Given the description of an element on the screen output the (x, y) to click on. 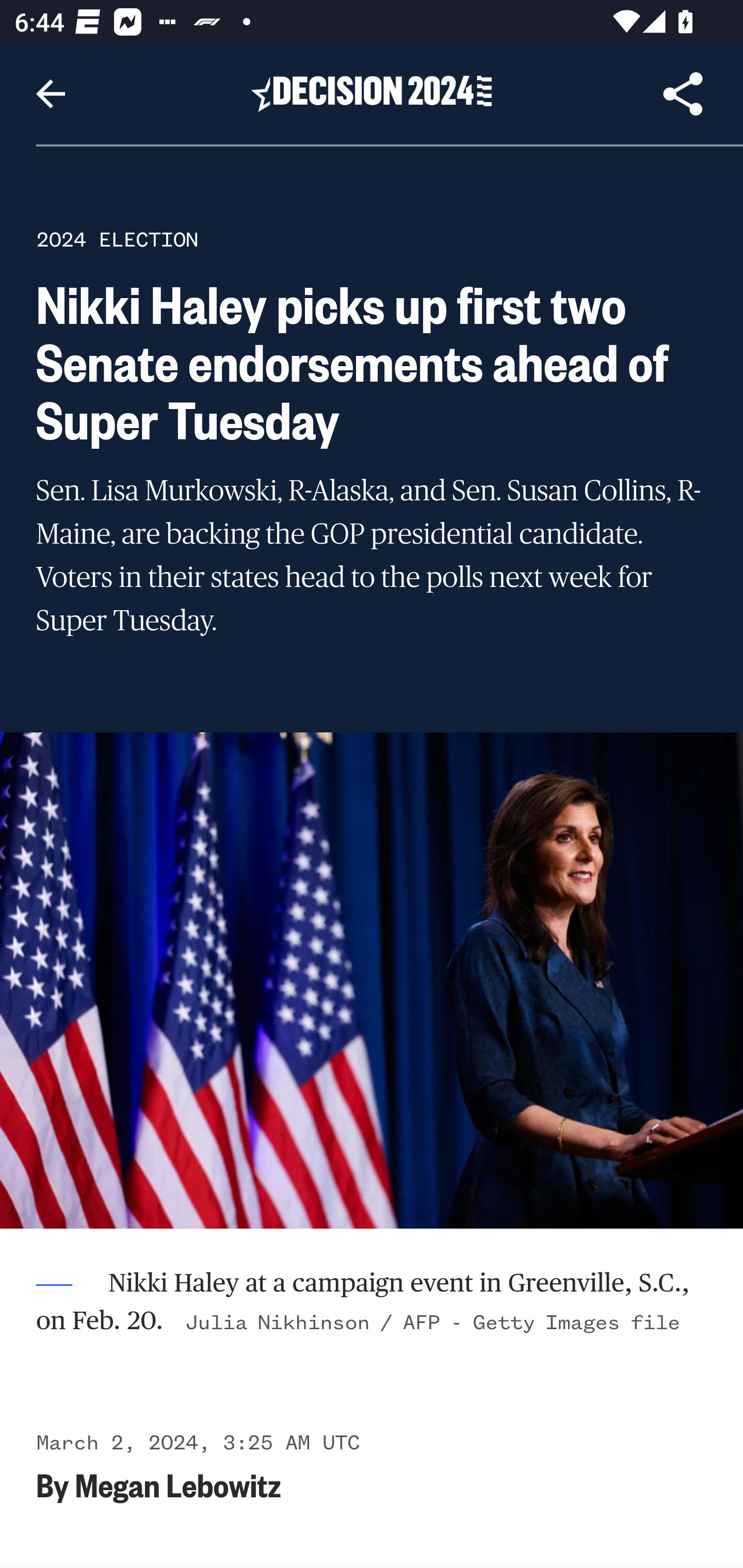
Navigate up (50, 93)
Share Article, button (683, 94)
Header, Decision 2024 (371, 93)
2024 ELECTION (117, 239)
